Given the description of an element on the screen output the (x, y) to click on. 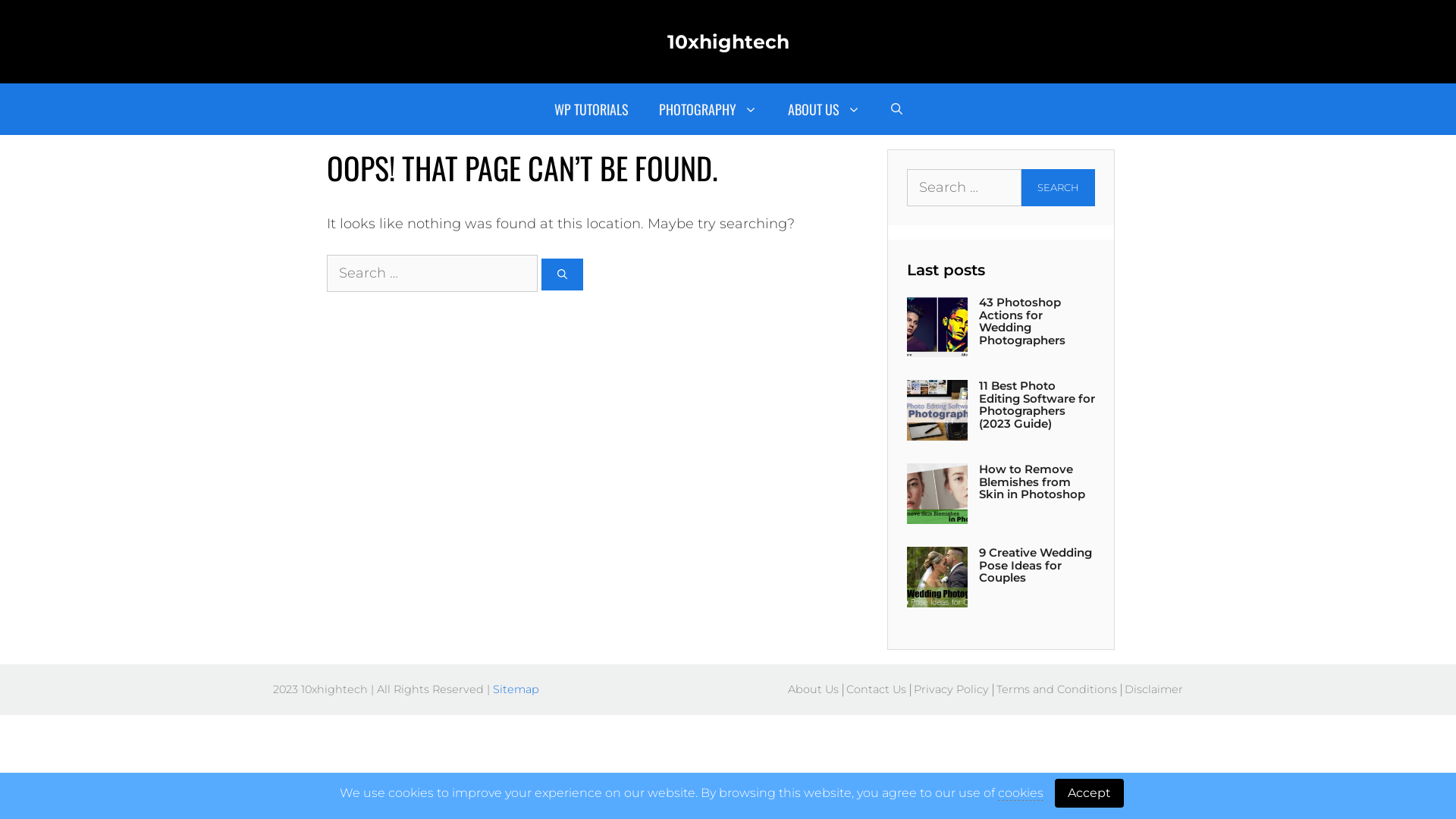
9 Creative Wedding Pose Ideas for Couples Element type: text (1035, 564)
43 Photoshop Actions for Wedding Photographers Element type: text (1022, 320)
About Us Element type: text (812, 689)
cookies Element type: text (1020, 792)
PHOTOGRAPHY Element type: text (707, 108)
Contact Us Element type: text (876, 689)
Disclaimer Element type: text (1153, 689)
How to Remove Blemishes from Skin in Photoshop Element type: text (1032, 481)
WP TUTORIALS Element type: text (590, 108)
10xhightech Element type: text (728, 41)
Search Element type: text (1058, 187)
Terms and Conditions Element type: text (1056, 689)
Privacy Policy Element type: text (950, 689)
Accept Element type: text (1088, 792)
Sitemap Element type: text (515, 689)
Search for: Element type: hover (431, 272)
ABOUT US Element type: text (823, 108)
